Given the description of an element on the screen output the (x, y) to click on. 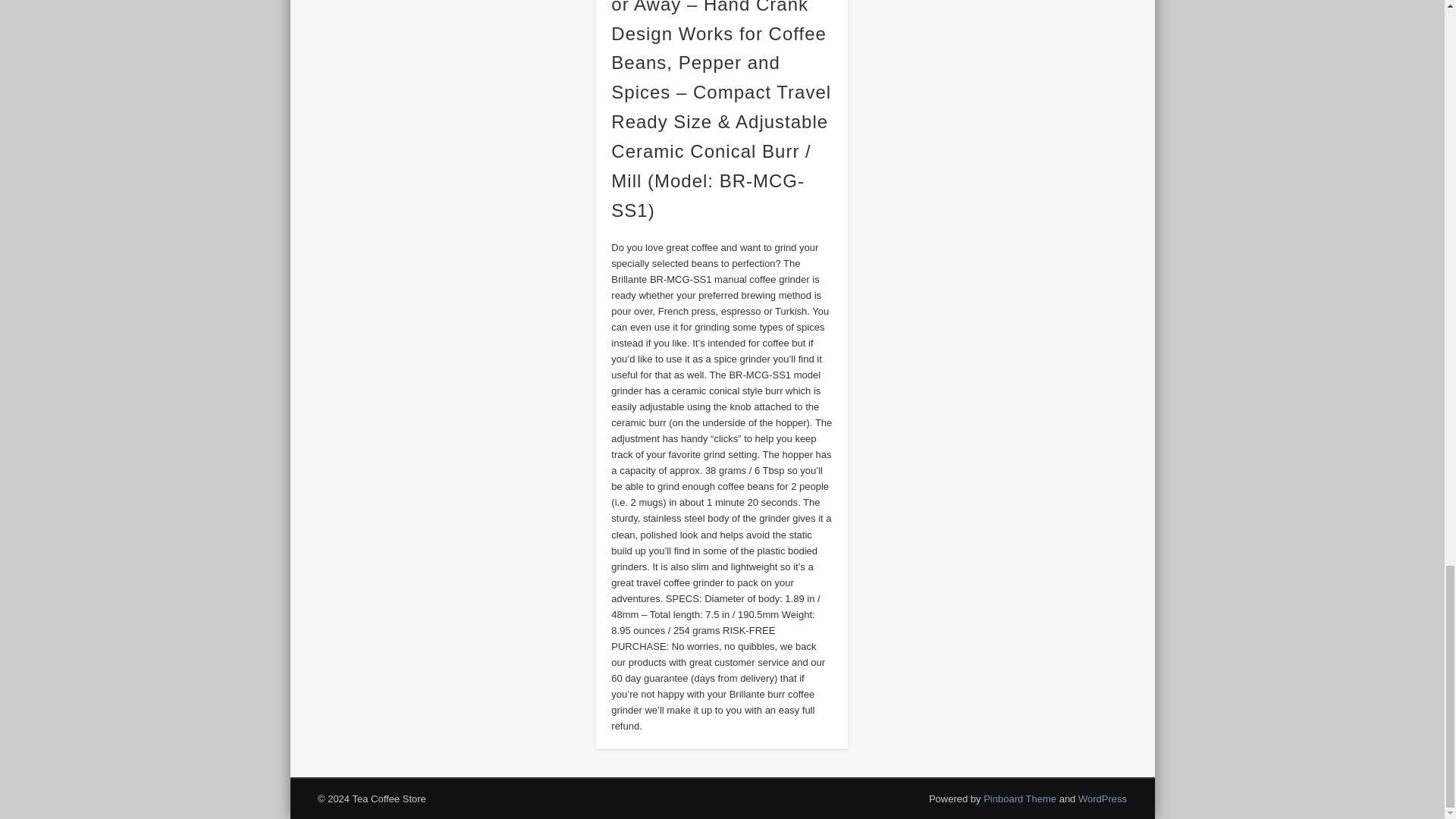
Pinboard Theme (1020, 798)
WordPress (1102, 798)
